Given the description of an element on the screen output the (x, y) to click on. 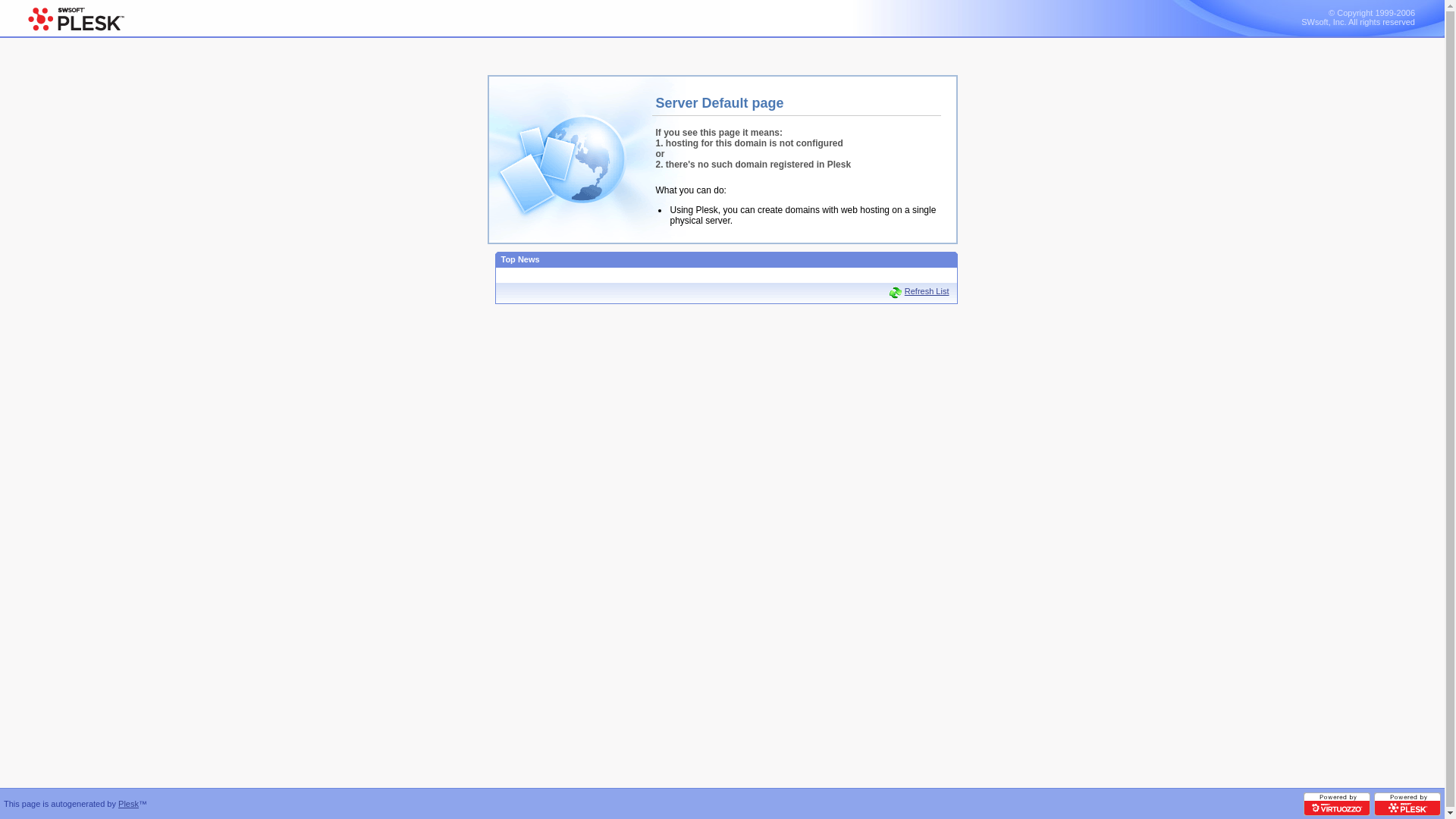
Plesk Element type: text (128, 803)
Refresh List Element type: text (919, 292)
